Given the description of an element on the screen output the (x, y) to click on. 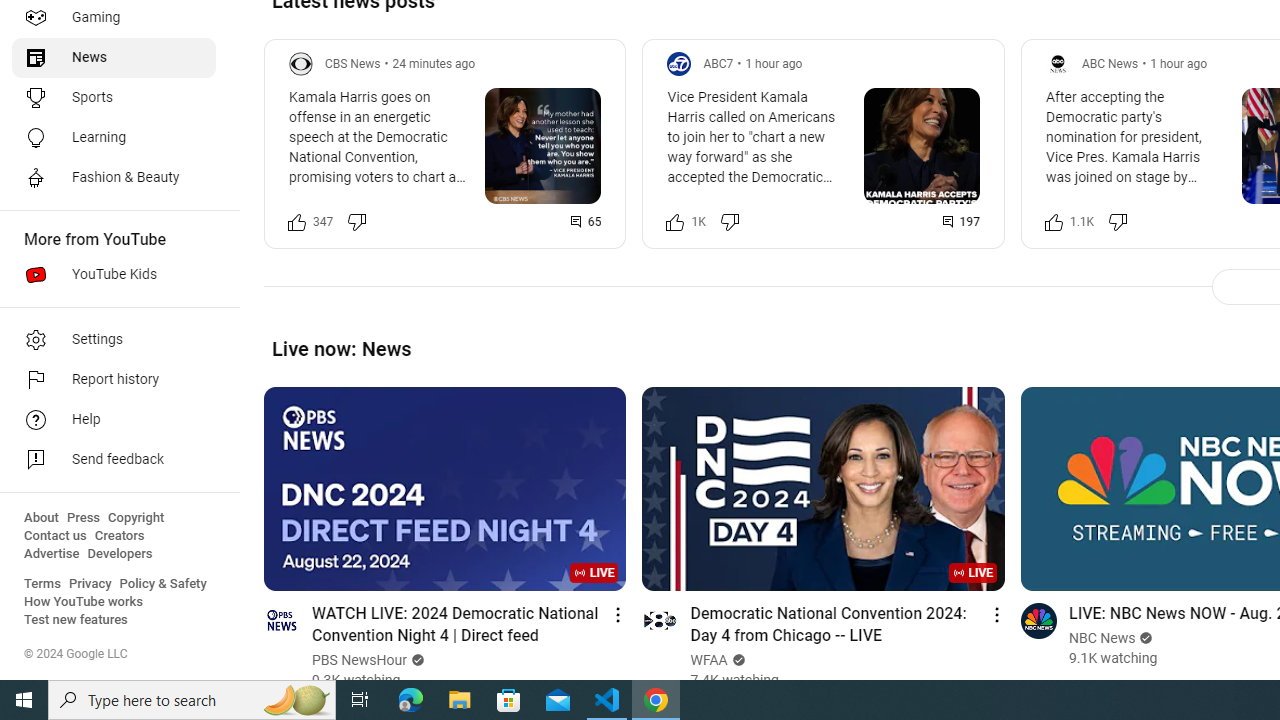
Policy & Safety (163, 584)
Dislike this post (1118, 221)
Copyright (136, 518)
Learning (113, 137)
News (113, 57)
Comment (961, 221)
Press (83, 518)
24 minutes ago (433, 63)
Like this post along with 1,018 other people (675, 221)
How YouTube works (83, 602)
Creators (118, 536)
